Given the description of an element on the screen output the (x, y) to click on. 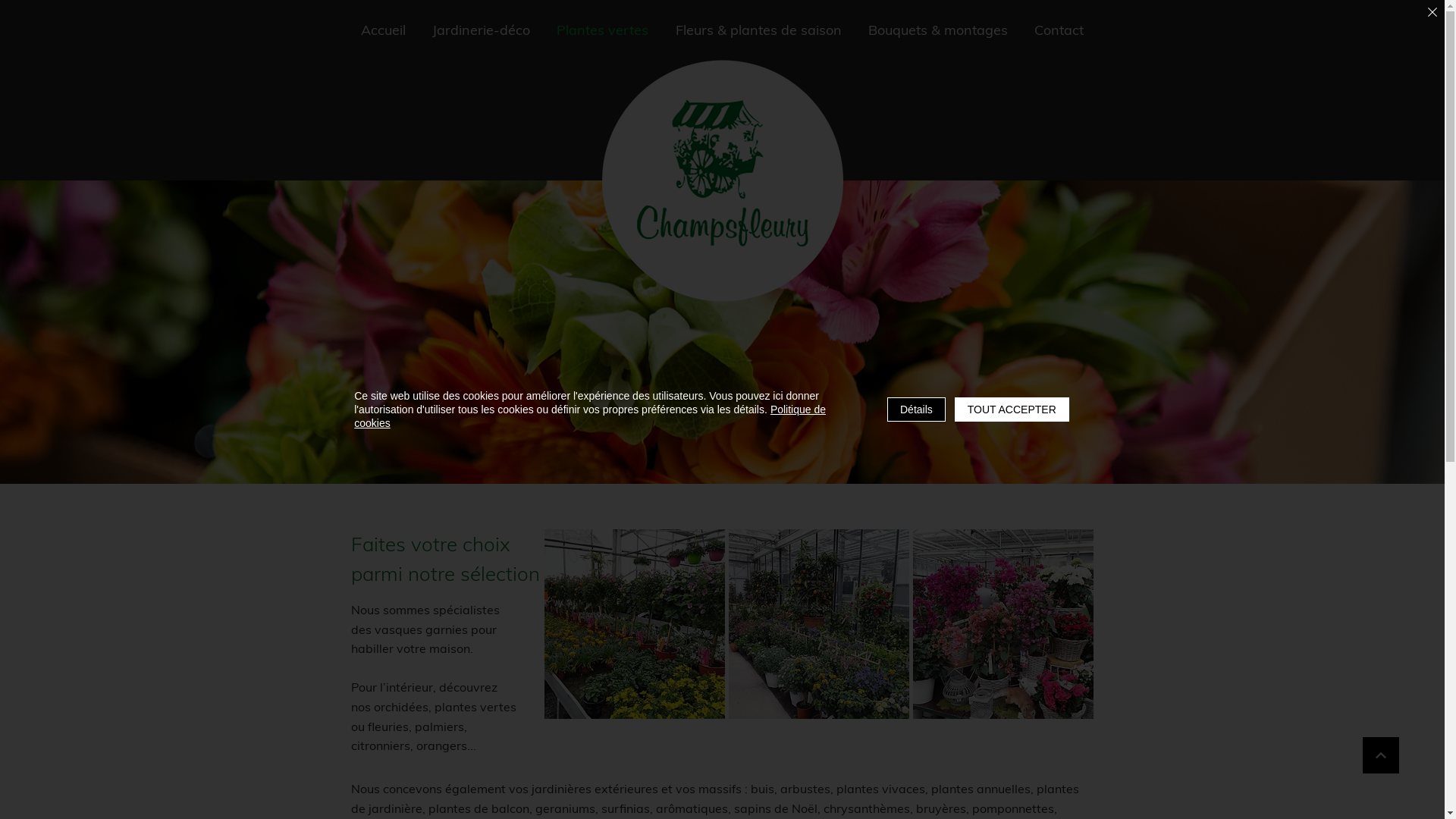
Fleurs & plantes de saison Element type: text (758, 29)
Politique de cookies Element type: text (589, 416)
Plantes vertes Element type: text (602, 29)
Accueil Element type: text (382, 29)
Bouquets & montages Element type: text (937, 29)
Contact Element type: text (1058, 29)
TOUT ACCEPTER Element type: text (1011, 409)
